Given the description of an element on the screen output the (x, y) to click on. 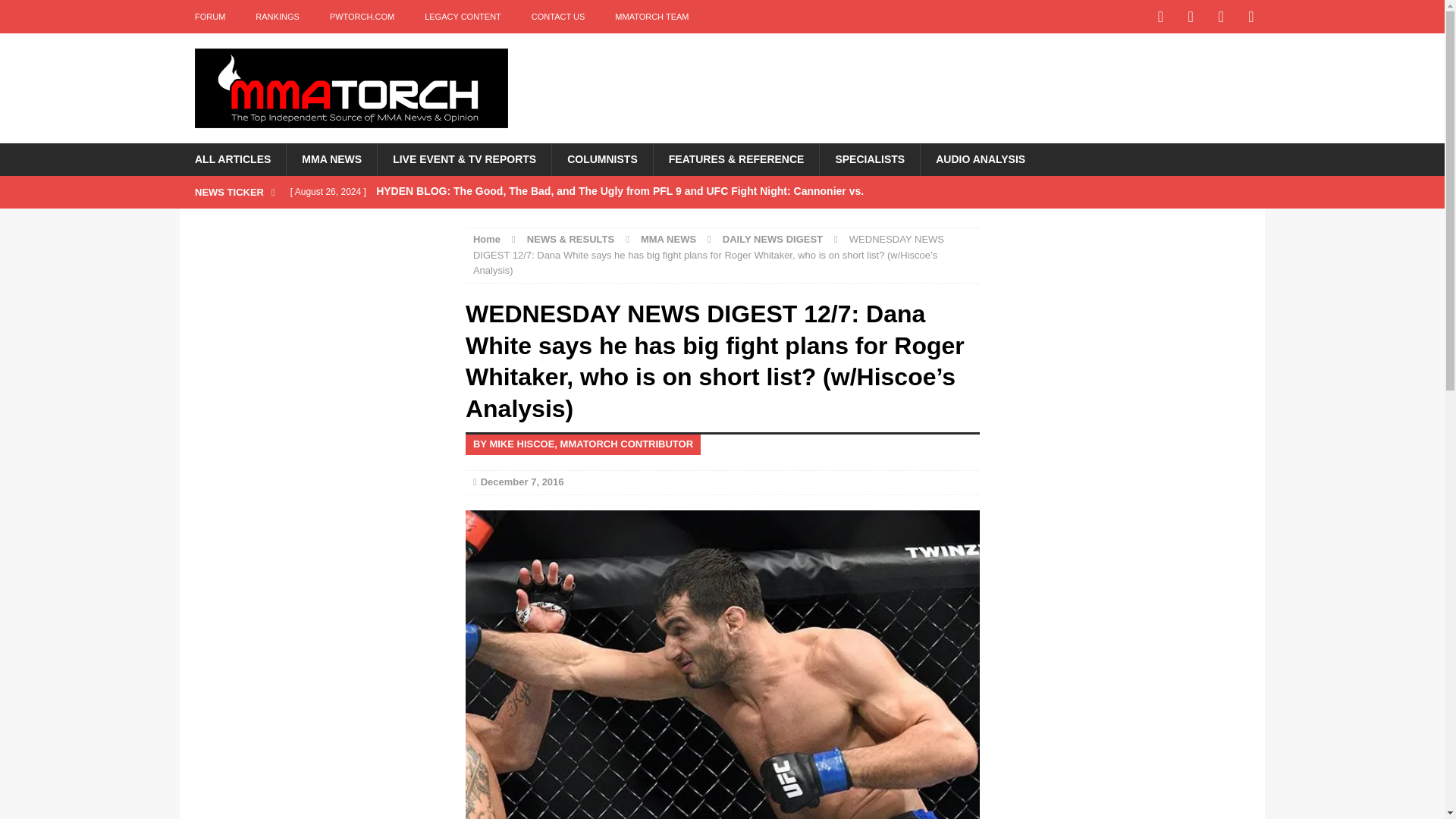
MMATorch (350, 88)
PWTORCH.COM (361, 16)
MMA NEWS (331, 159)
FORUM (209, 16)
ALL ARTICLES (232, 159)
MMATORCH TEAM (651, 16)
COLUMNISTS (601, 159)
RANKINGS (277, 16)
CONTACT US (557, 16)
